Given the description of an element on the screen output the (x, y) to click on. 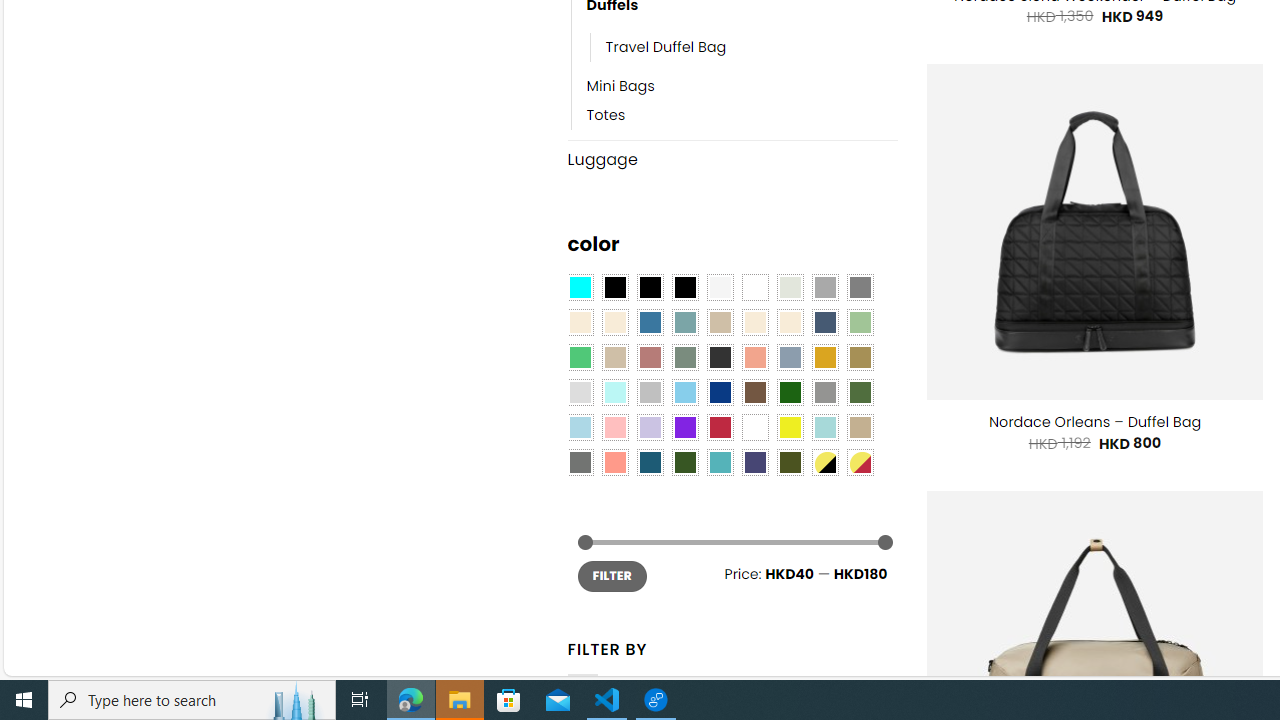
Blue Sage (684, 323)
Light Blue (579, 427)
Mint (614, 393)
Black-Brown (684, 287)
Totes (605, 115)
Beige (579, 323)
Light Green (859, 323)
Mini Bags (742, 87)
FILTER (612, 575)
Purple Navy (755, 462)
Army Green (789, 462)
Sage (684, 357)
Travel Duffel Bag (753, 48)
Purple (684, 427)
Red (719, 427)
